Given the description of an element on the screen output the (x, y) to click on. 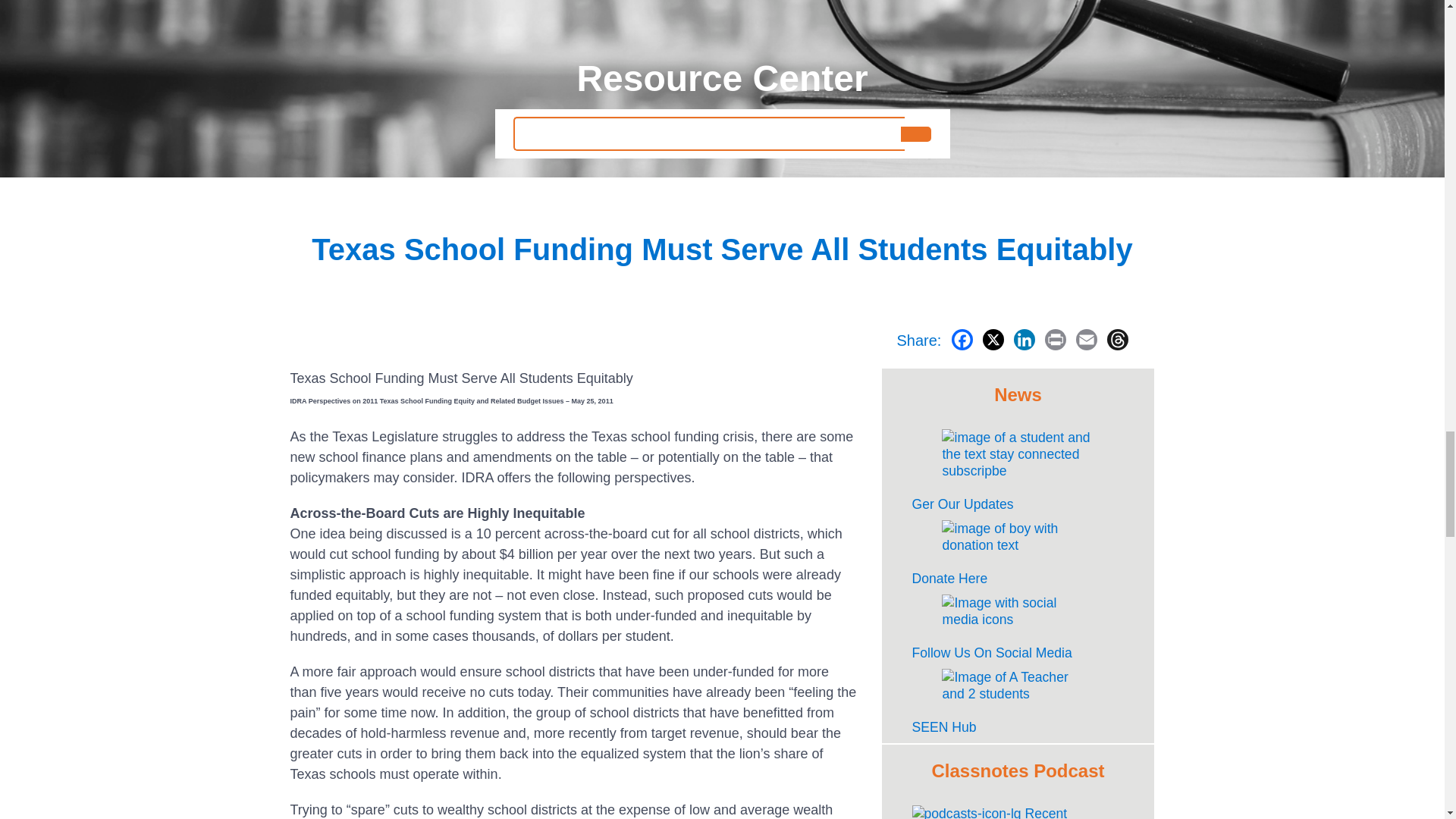
LinkedIn (1026, 343)
Threads (1119, 343)
Twitter (994, 343)
Facebook (964, 343)
Email (1088, 343)
Print (1057, 343)
